Given the description of an element on the screen output the (x, y) to click on. 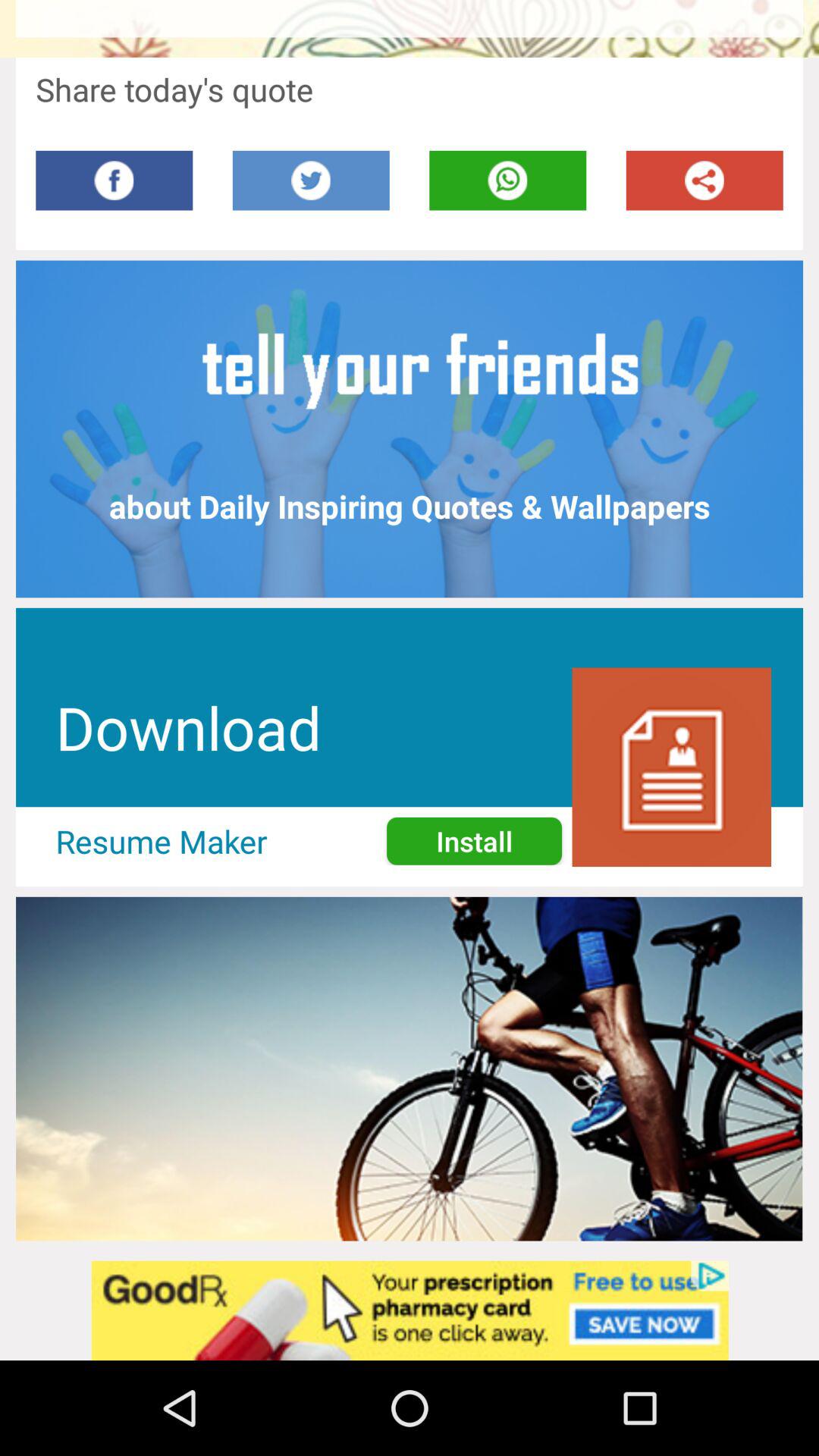
go to towiter (310, 180)
